Given the description of an element on the screen output the (x, y) to click on. 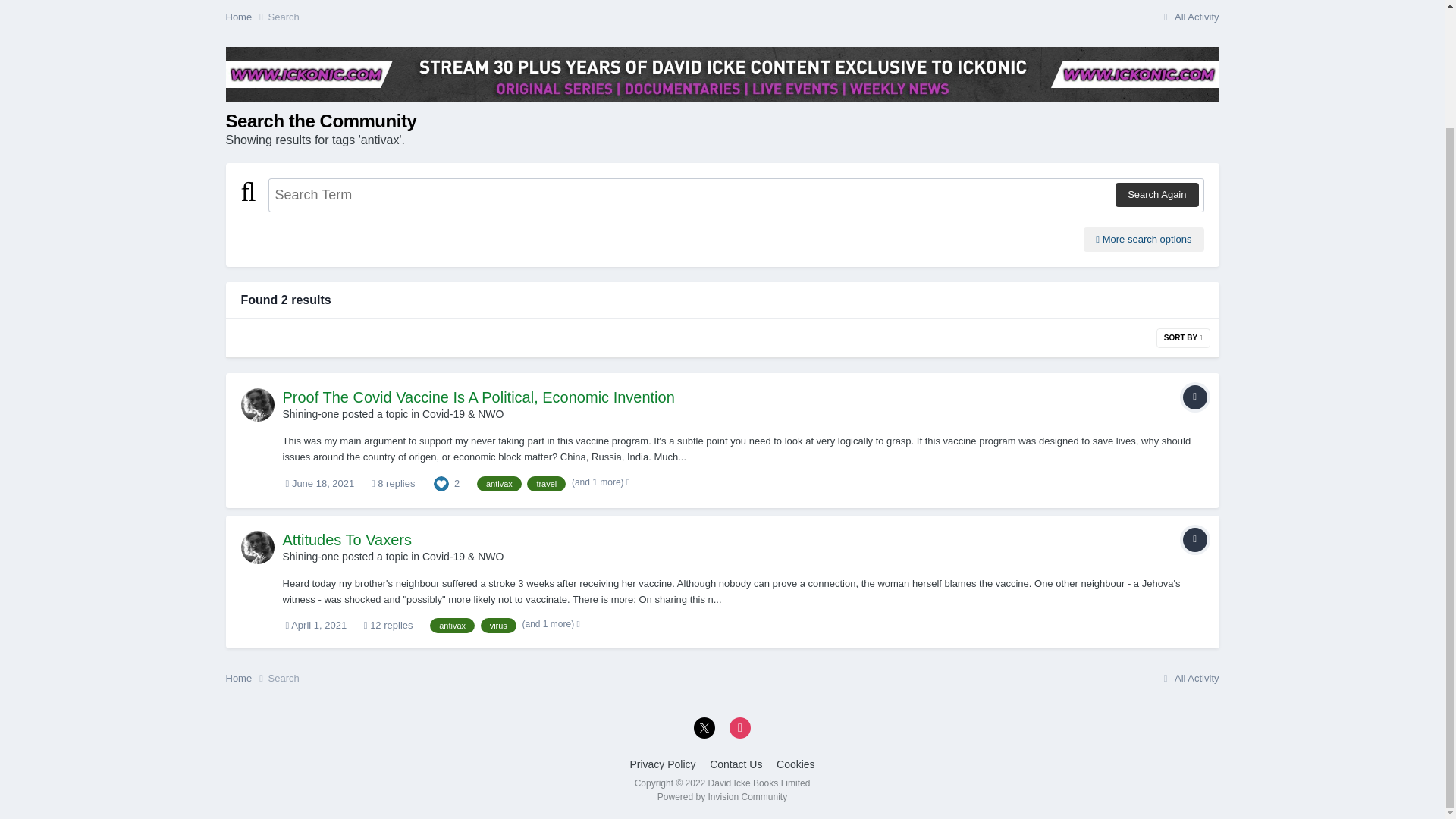
Find other content tagged with 'travel' (546, 483)
Search (283, 16)
Find other content tagged with 'virus' (498, 625)
Go to Shining-one's profile (310, 556)
All Activity (1188, 16)
Topic (1194, 396)
Like (440, 482)
Topic (1194, 539)
More search options (1143, 239)
Search Again (1156, 194)
Home (246, 17)
Go to Shining-one's profile (258, 404)
Go to Shining-one's profile (258, 547)
Go to Shining-one's profile (310, 413)
Find other content tagged with 'antivax' (451, 625)
